Given the description of an element on the screen output the (x, y) to click on. 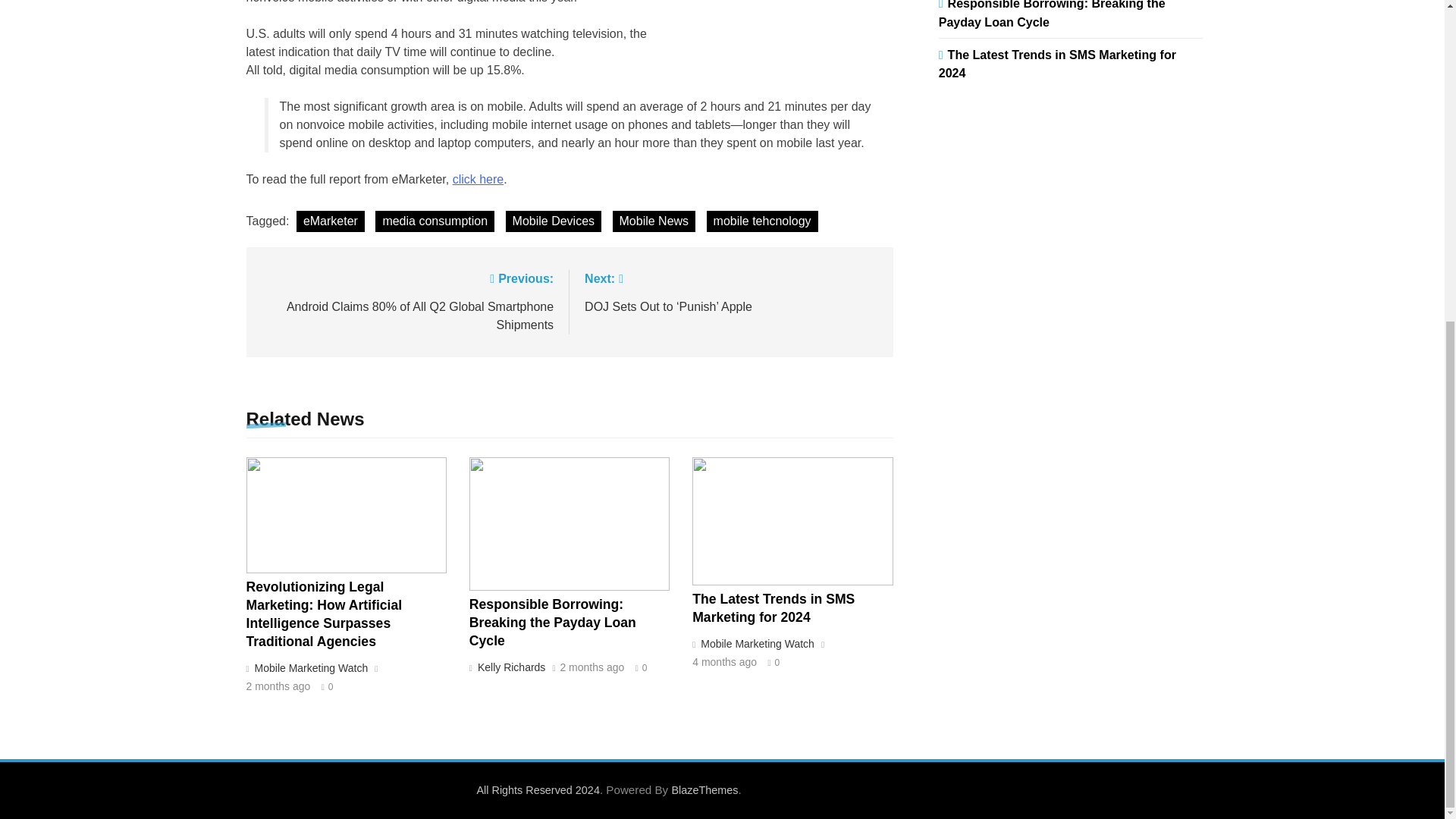
2 months ago (278, 686)
Mobile Marketing Watch (309, 667)
eMarketer (331, 220)
mobile tehcnology (762, 220)
Mobile News (653, 220)
media consumption (435, 220)
Mobile Devices (553, 220)
click here (477, 178)
